Given the description of an element on the screen output the (x, y) to click on. 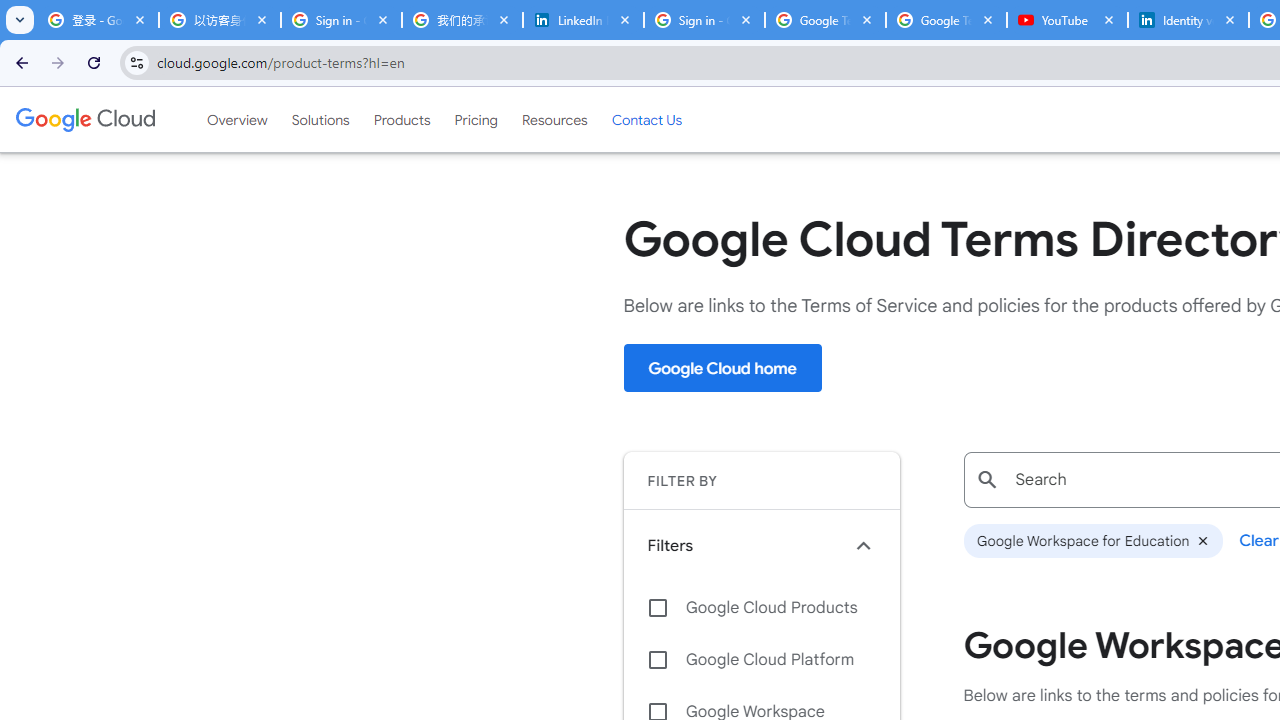
LinkedIn Privacy Policy (583, 20)
Sign in - Google Accounts (340, 20)
Products (401, 119)
Contact Us (646, 119)
YouTube (1067, 20)
Google Cloud Platform (761, 660)
Google Cloud Products (761, 607)
